Given the description of an element on the screen output the (x, y) to click on. 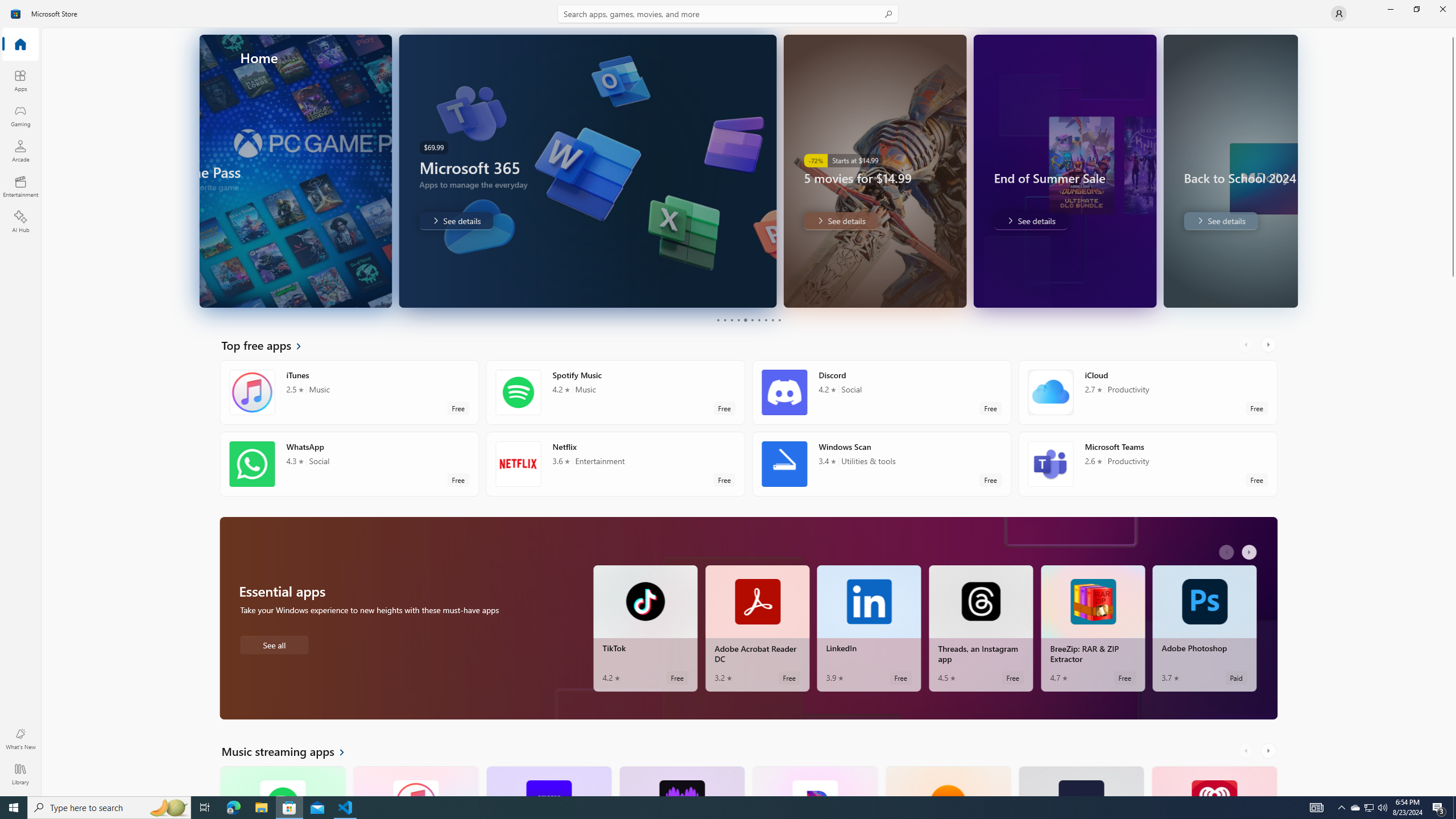
iTunes. Average rating of 2.5 out of five stars. Free   (415, 780)
Page 3 (731, 319)
Vertical (1452, 412)
WhatsApp. Average rating of 4.3 out of five stars. Free   (349, 463)
Home (20, 45)
Pandora. Average rating of 4.5 out of five stars. Free   (814, 780)
Gaming (20, 115)
Restore Microsoft Store (1416, 9)
AutomationID: NavigationControl (728, 398)
Minimize Microsoft Store (1390, 9)
